Given the description of an element on the screen output the (x, y) to click on. 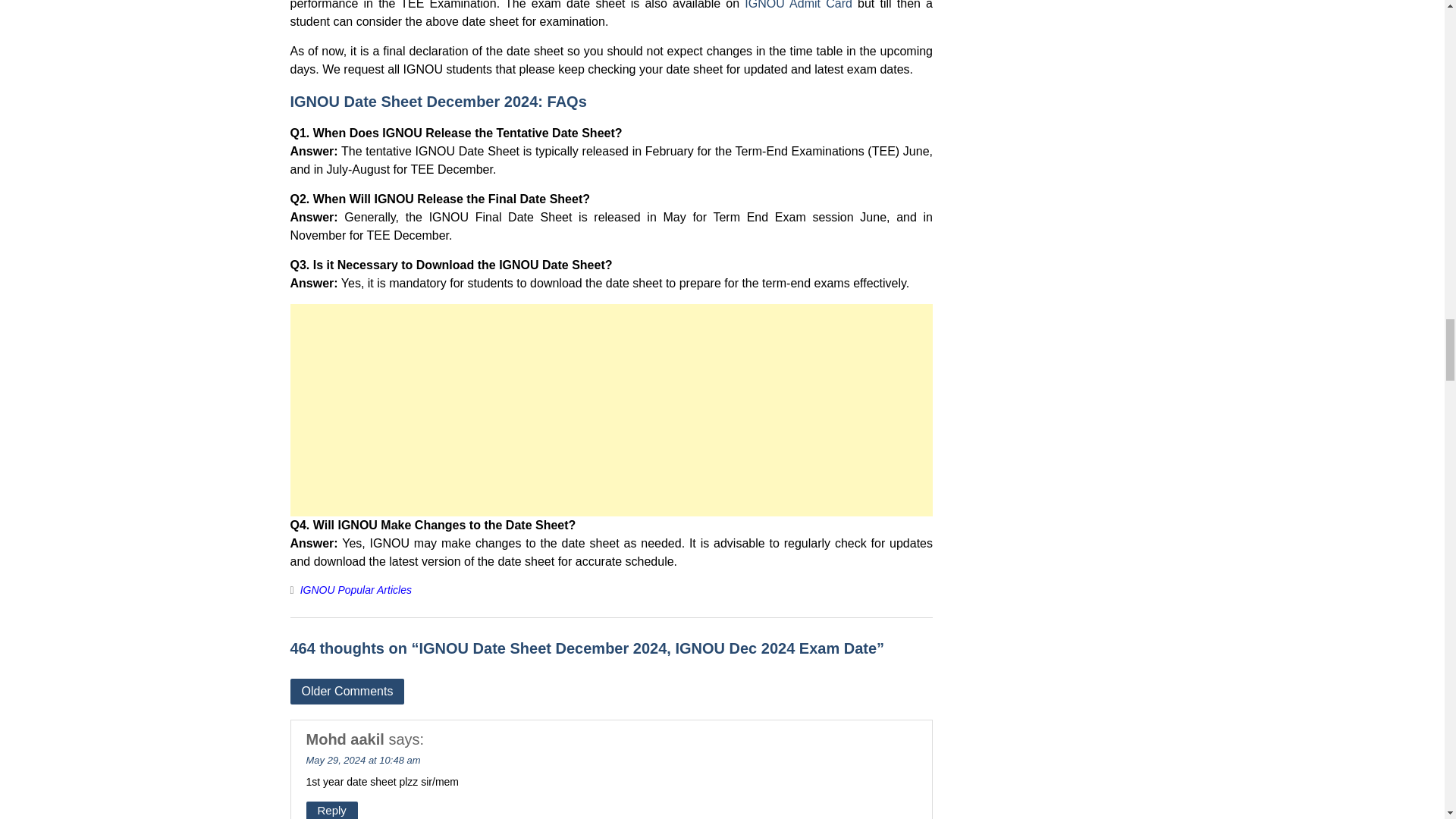
IGNOU Admit Card (797, 4)
IGNOU Popular Articles (355, 589)
Older Comments (346, 691)
May 29, 2024 at 10:48 am (362, 759)
Reply (331, 810)
